Given the description of an element on the screen output the (x, y) to click on. 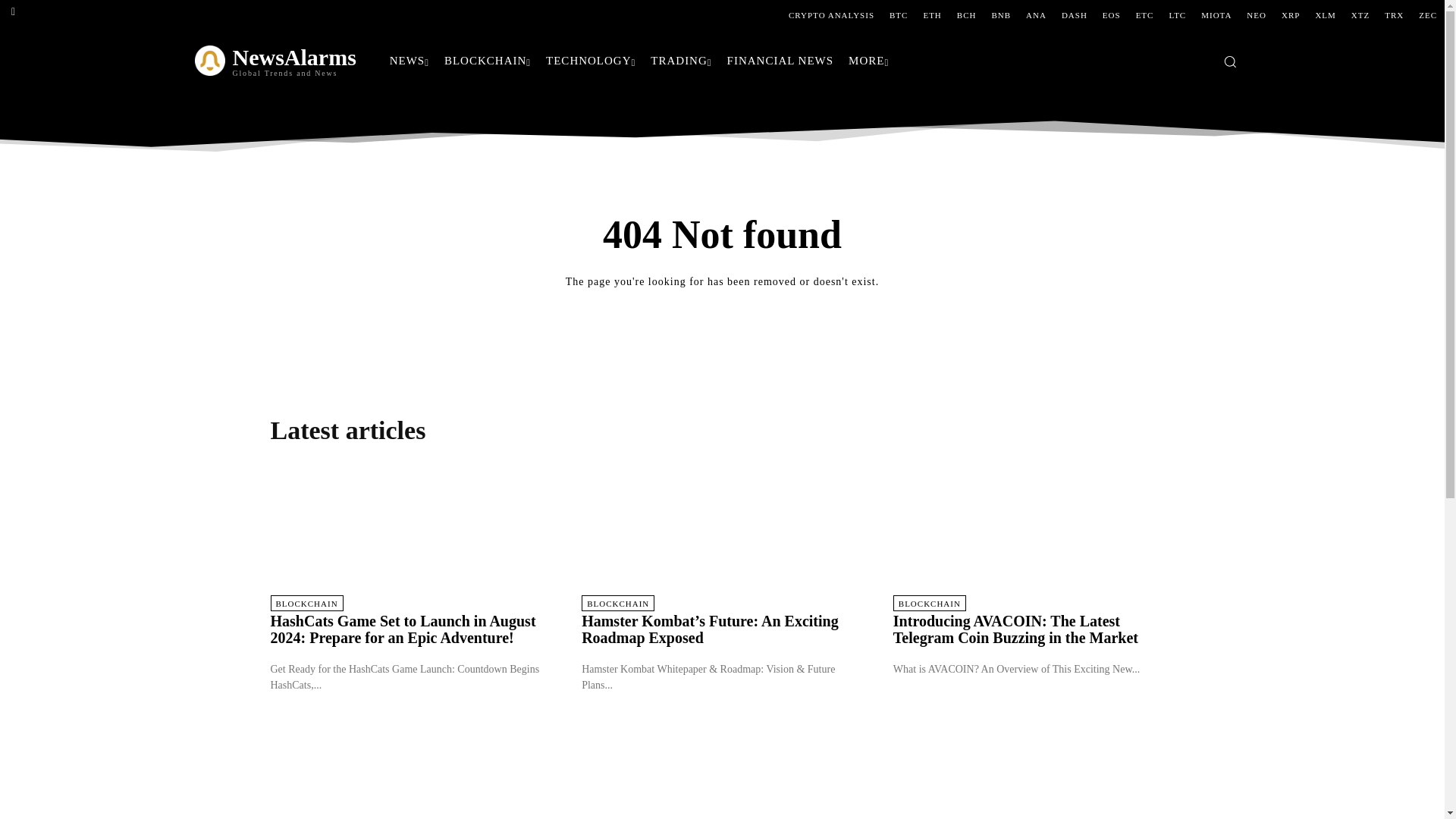
Facebook (13, 12)
CRYPTO ANALYSIS (831, 15)
LTC (1176, 15)
EOS (1111, 15)
NEO (1256, 15)
BNB (1000, 15)
BCH (966, 15)
DASH (1074, 15)
MIOTA (1216, 15)
ANA (1035, 15)
